Given the description of an element on the screen output the (x, y) to click on. 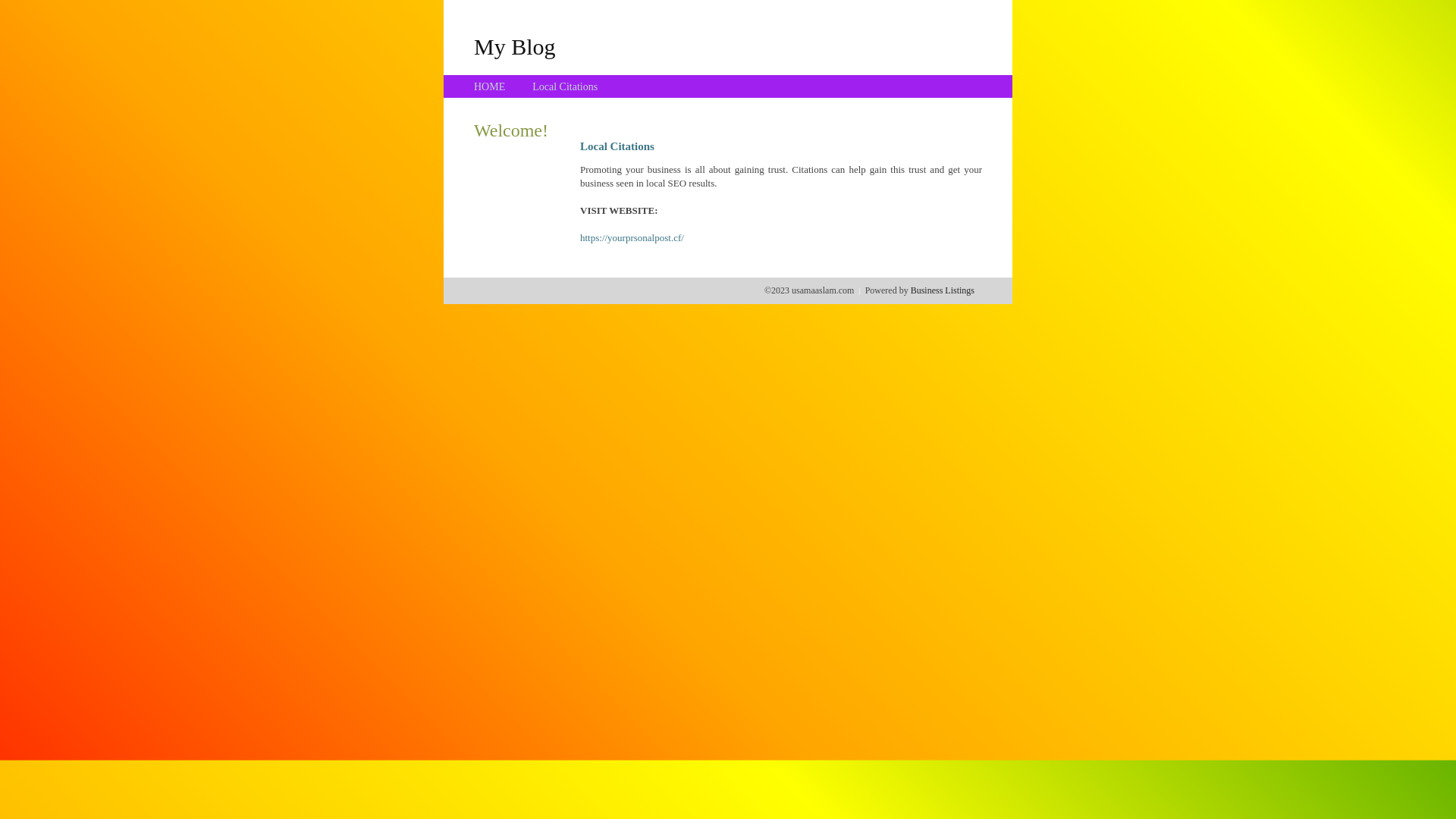
HOME Element type: text (489, 86)
Local Citations Element type: text (564, 86)
Business Listings Element type: text (942, 290)
My Blog Element type: text (514, 46)
https://yourprsonalpost.cf/ Element type: text (632, 237)
